Given the description of an element on the screen output the (x, y) to click on. 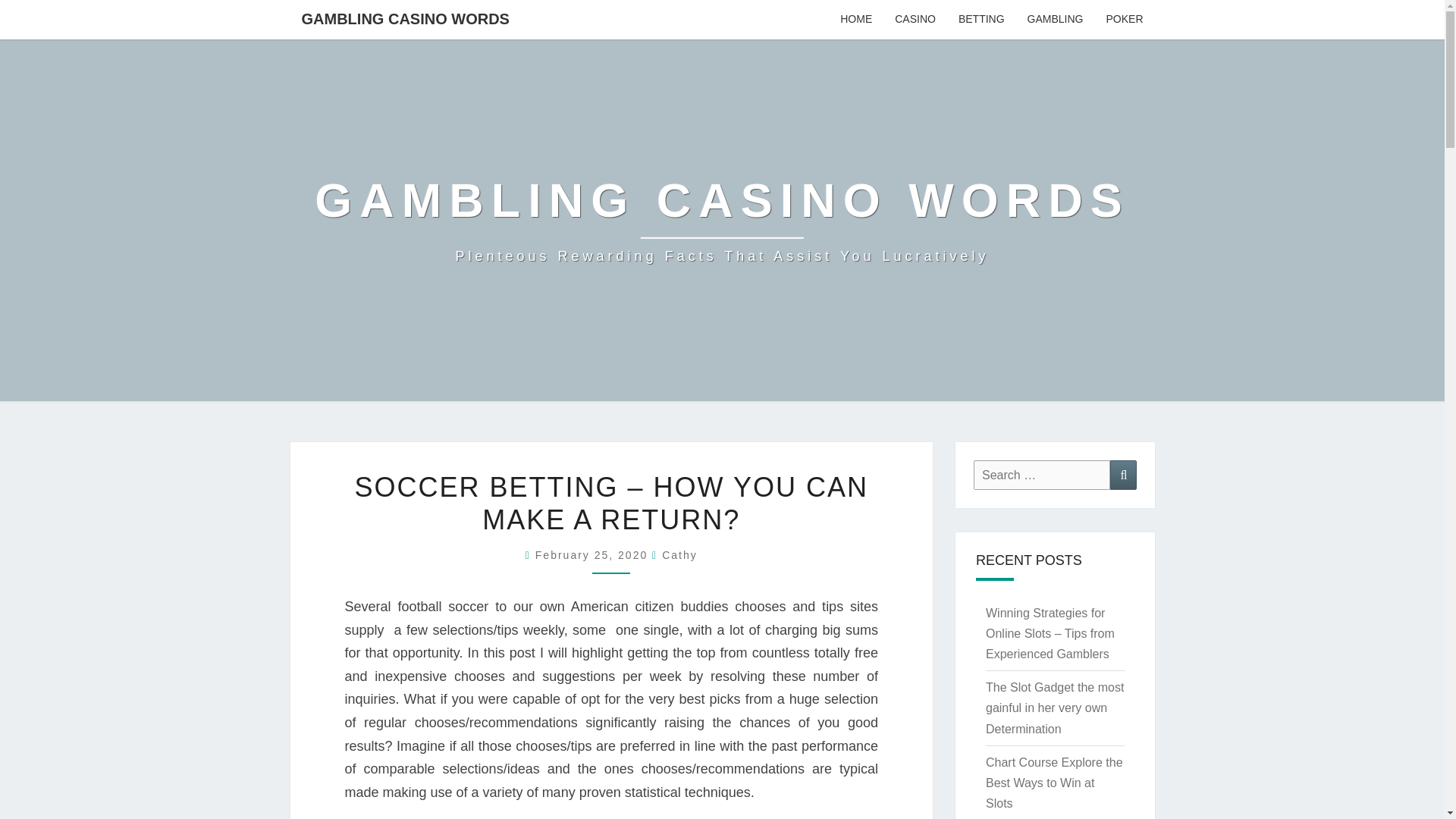
Gambling casino words (721, 219)
February 25, 2020 (593, 554)
BETTING (981, 19)
View all posts by Cathy (679, 554)
Search for: (1041, 474)
5:28 am (593, 554)
Cathy (679, 554)
GAMBLING (1055, 19)
Chart Course Explore the Best Ways to Win at Slots (1053, 782)
